Given the description of an element on the screen output the (x, y) to click on. 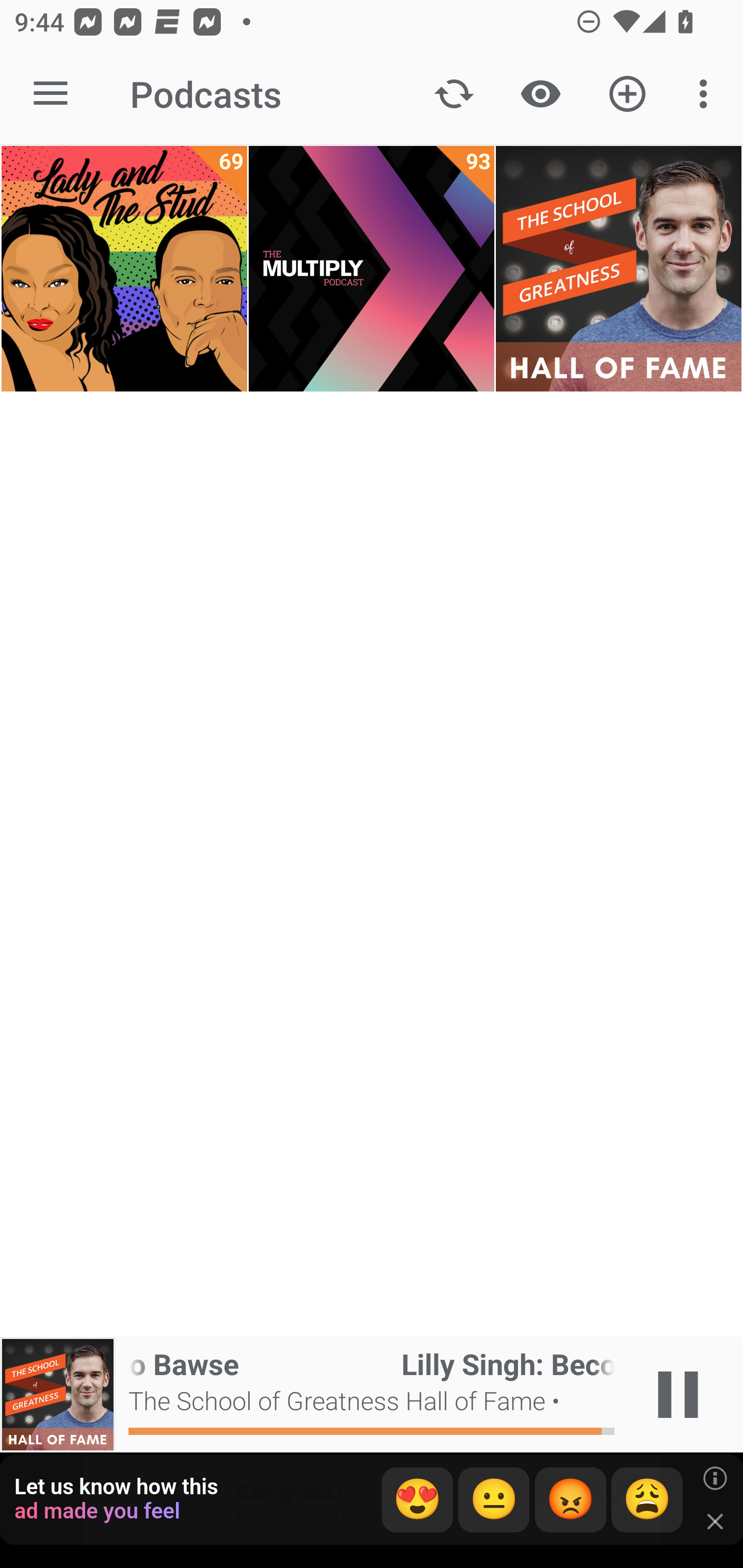
Open navigation sidebar (50, 93)
Update (453, 93)
Show / Hide played content (540, 93)
Add new Podcast (626, 93)
More options (706, 93)
Lady and The Stud 69 (124, 268)
The Multiply Podcast 93 (371, 268)
The School of Greatness Hall of Fame (618, 268)
Play / Pause (677, 1394)
app-monetization (371, 1500)
😍 (416, 1499)
😐 (493, 1499)
😡 (570, 1499)
😩 (647, 1499)
